Given the description of an element on the screen output the (x, y) to click on. 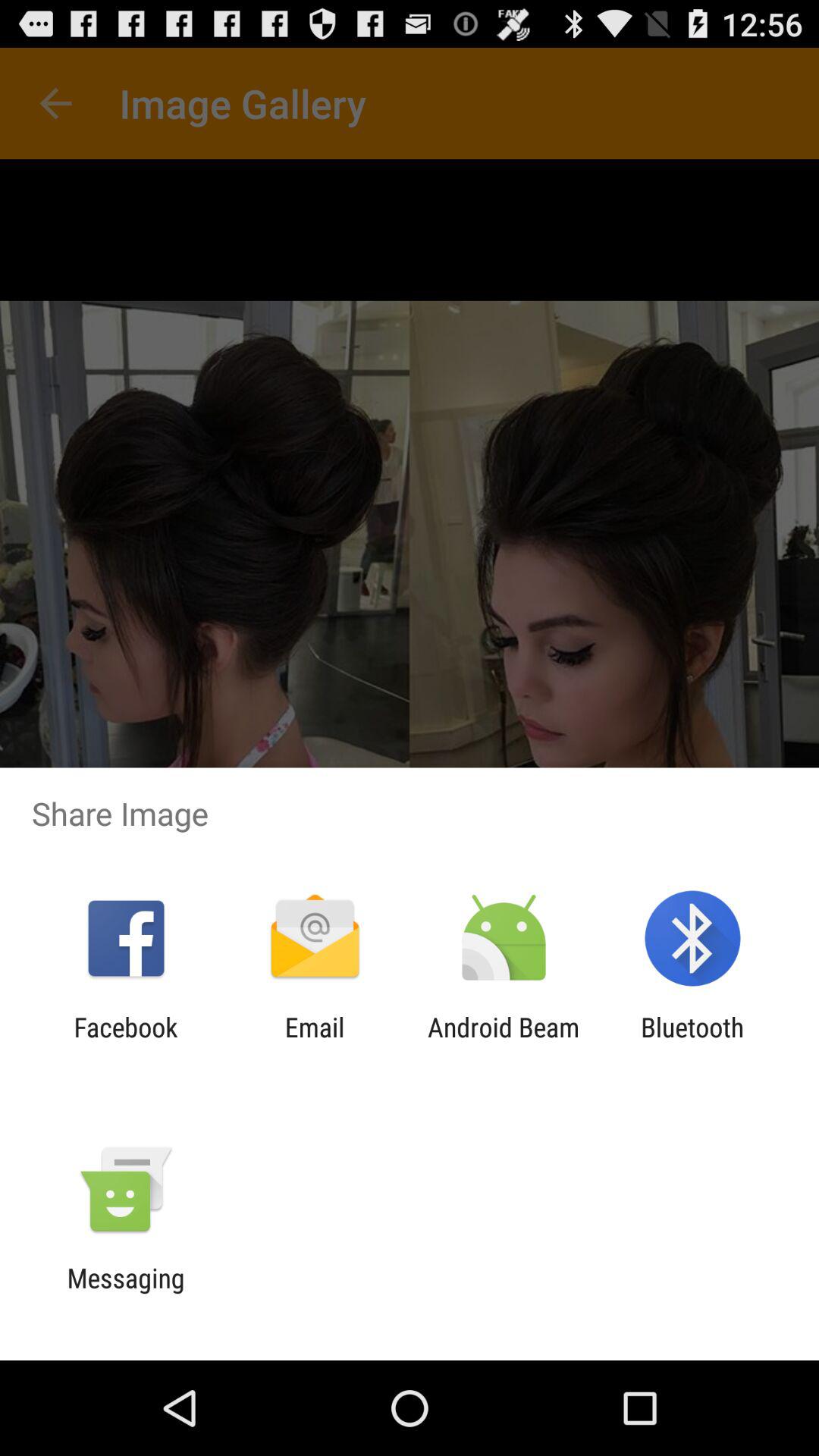
tap item next to facebook (314, 1042)
